Given the description of an element on the screen output the (x, y) to click on. 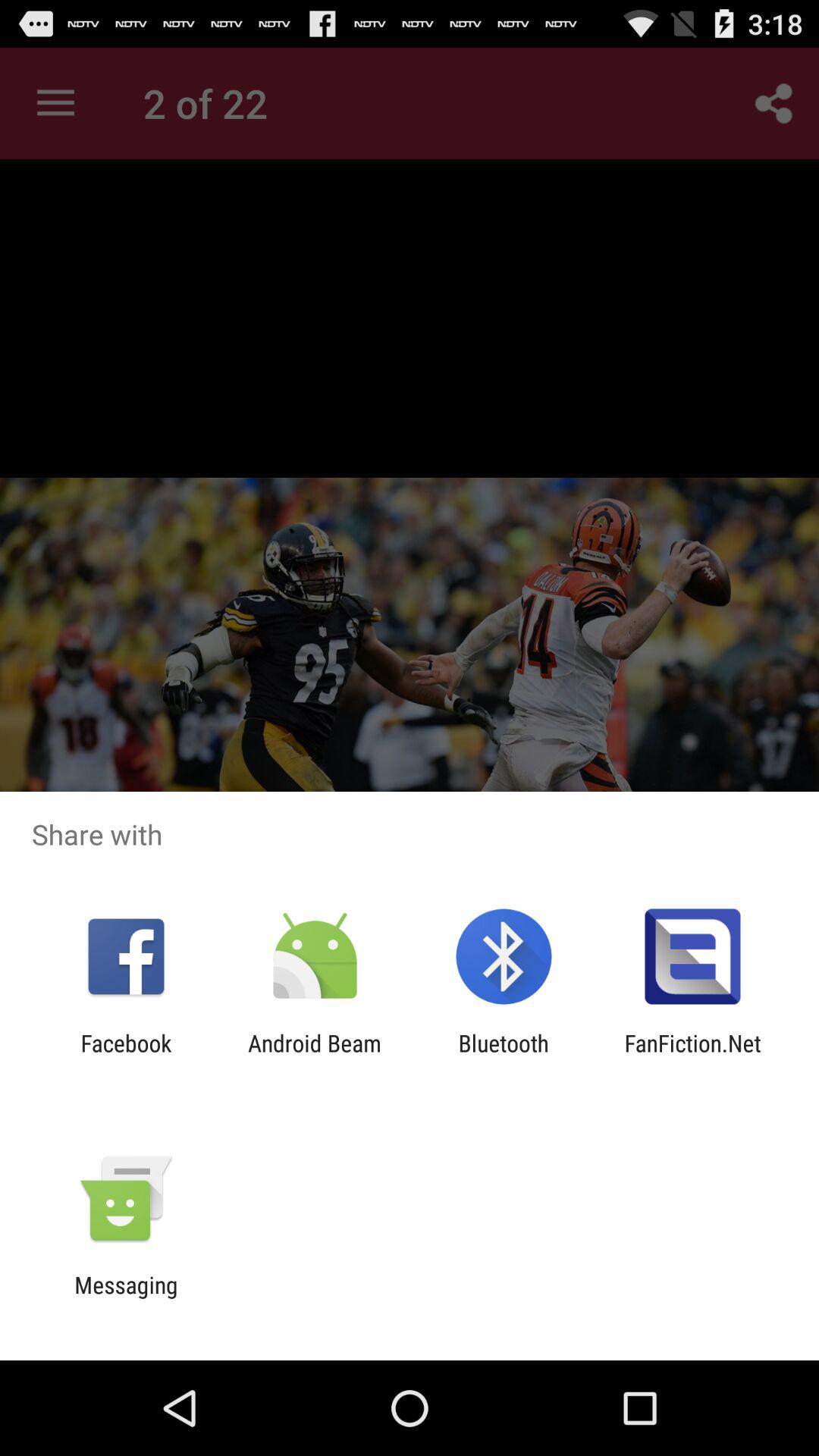
press the bluetooth (503, 1056)
